Given the description of an element on the screen output the (x, y) to click on. 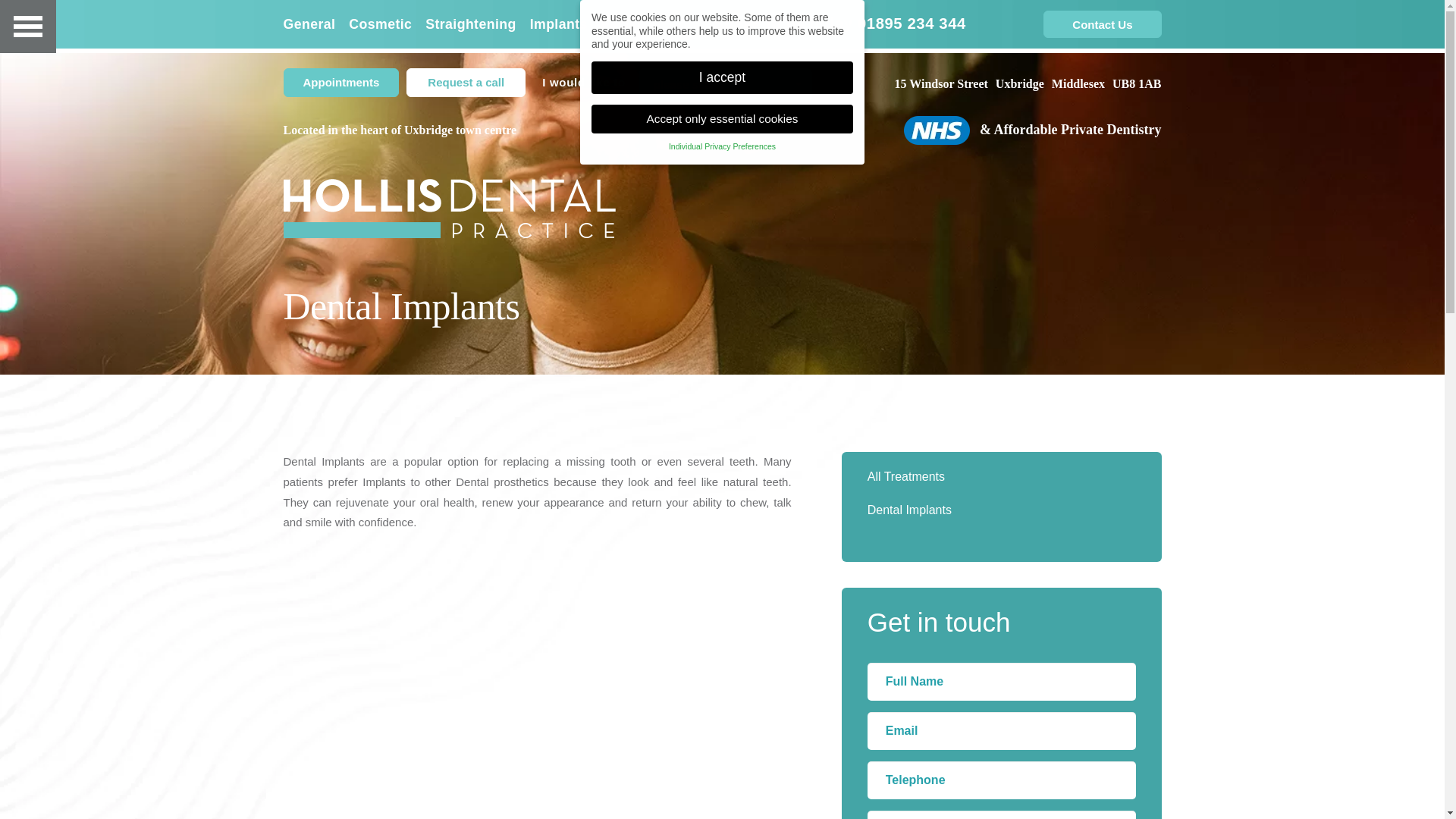
Appointments (340, 82)
1 (695, 388)
Implants (558, 23)
Cosmetic (380, 23)
5 (749, 388)
Straightening (470, 23)
2 (708, 388)
Request a call (465, 82)
3 (721, 388)
All Treatments (1001, 476)
Dental Implants (1001, 510)
Facial (620, 23)
General (312, 23)
4 (735, 388)
01895 234 344 (911, 23)
